Given the description of an element on the screen output the (x, y) to click on. 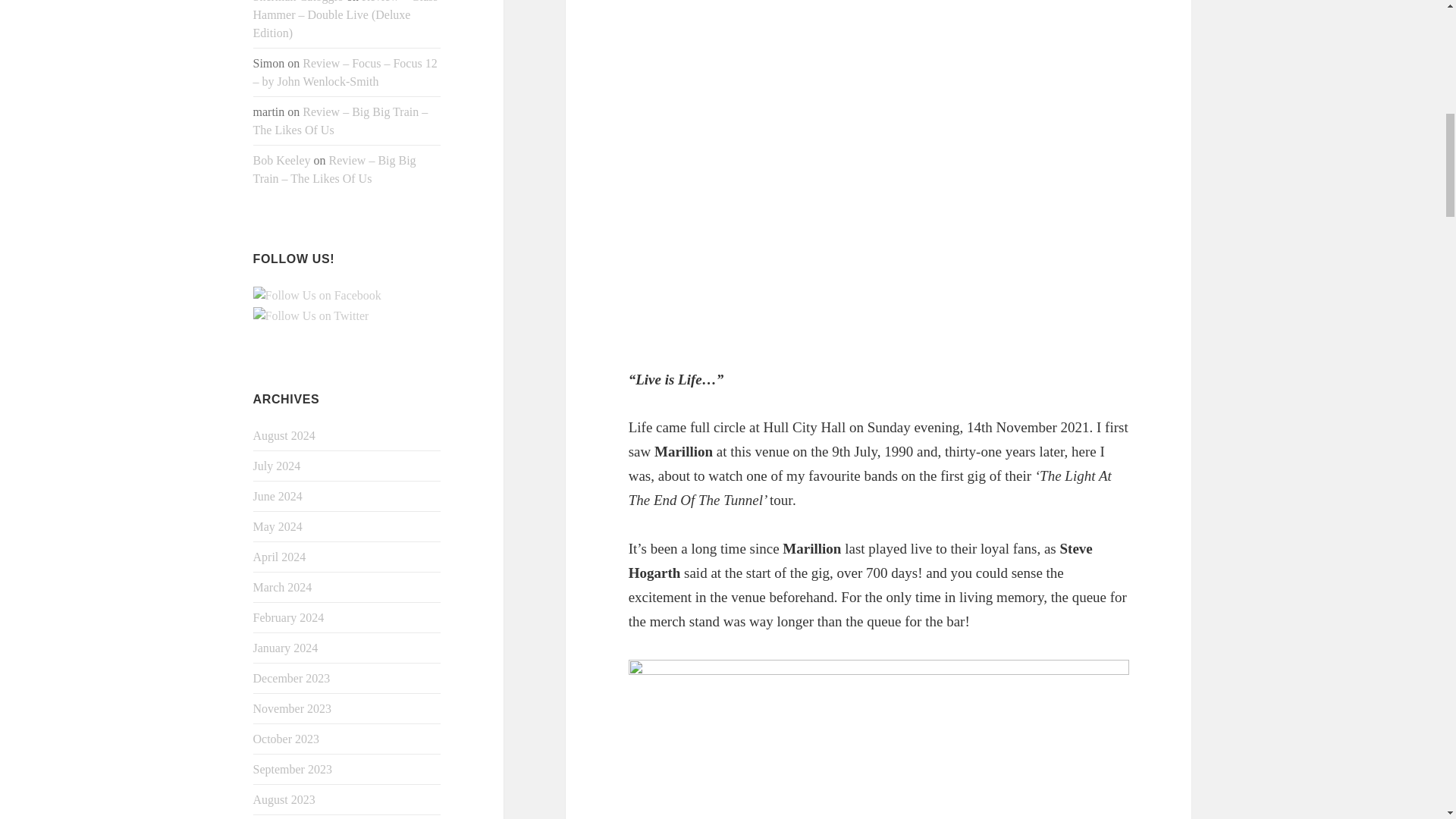
December 2023 (291, 677)
April 2024 (279, 556)
March 2024 (283, 586)
September 2023 (292, 768)
February 2024 (288, 617)
June 2024 (277, 495)
May 2024 (277, 526)
August 2024 (284, 435)
Facebook Progradar (317, 295)
Twitter DTVoicesUK (311, 316)
